Given the description of an element on the screen output the (x, y) to click on. 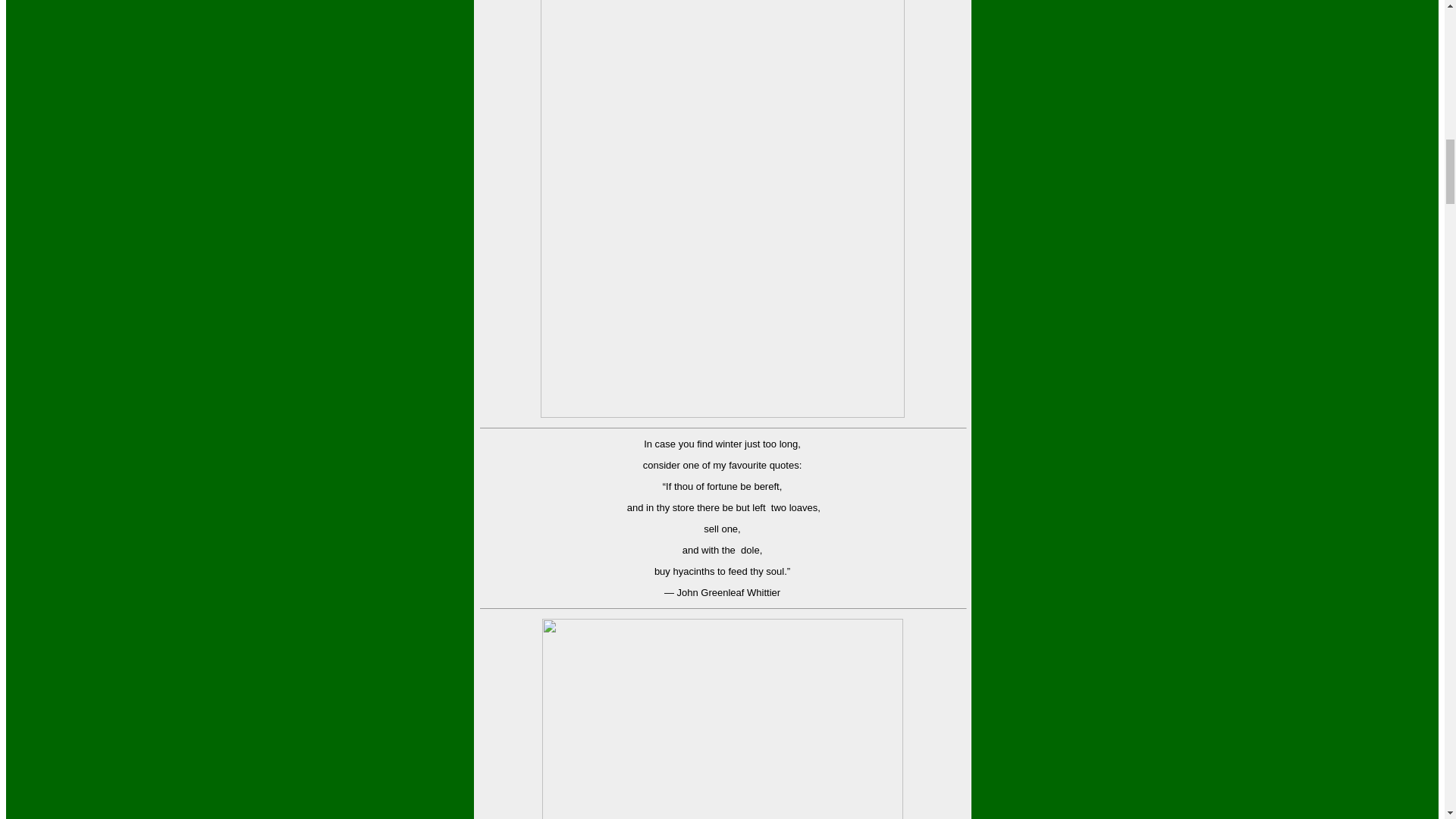
Ron's Hyacinths (721, 719)
